Given the description of an element on the screen output the (x, y) to click on. 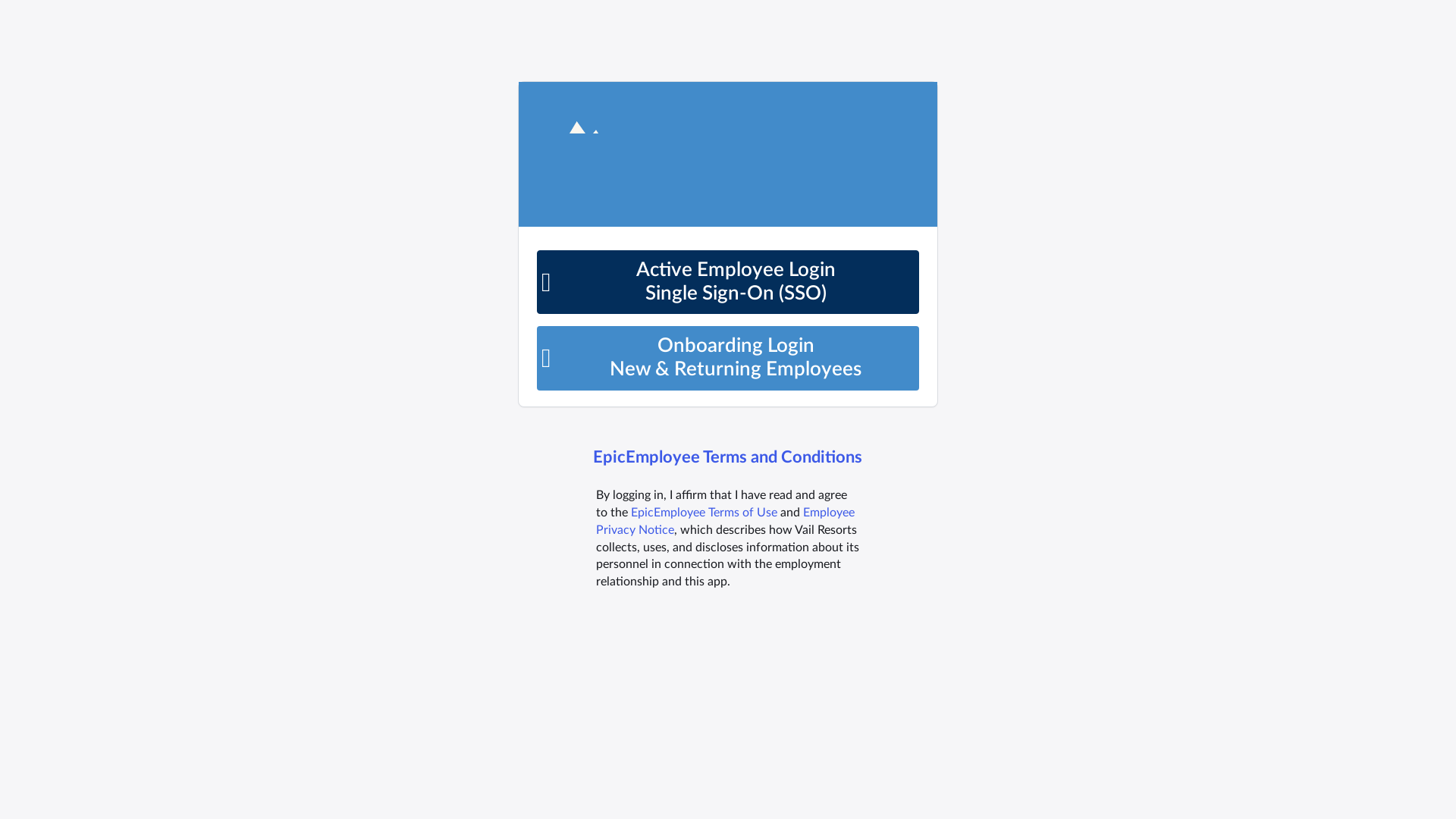
EpicEmployee Terms of Use (703, 512)
EpicEmployee Terms and Conditions (727, 457)
Employee Privacy Notice (724, 521)
